Given the description of an element on the screen output the (x, y) to click on. 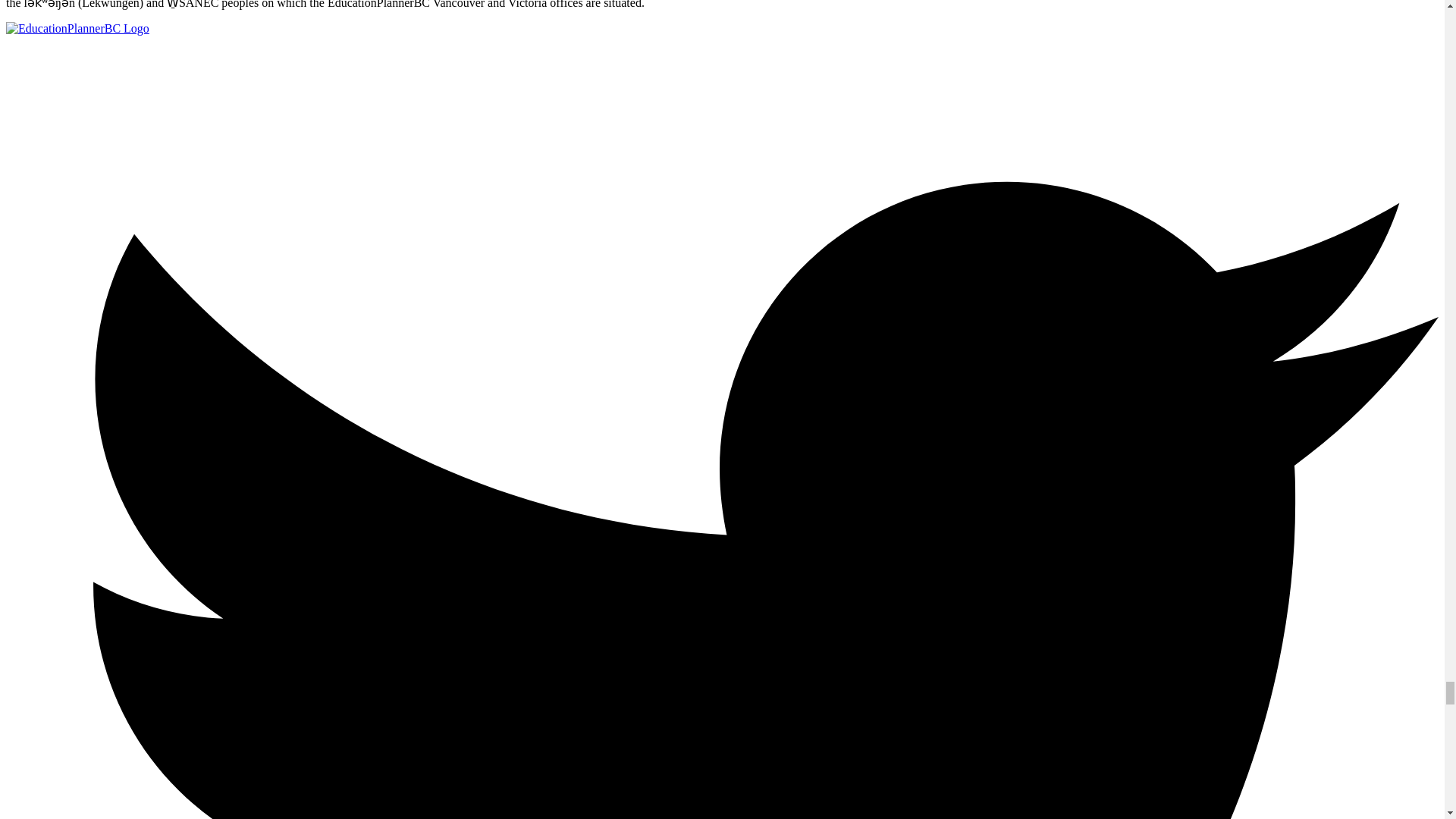
EducationPlannerBC Logo (77, 29)
